Given the description of an element on the screen output the (x, y) to click on. 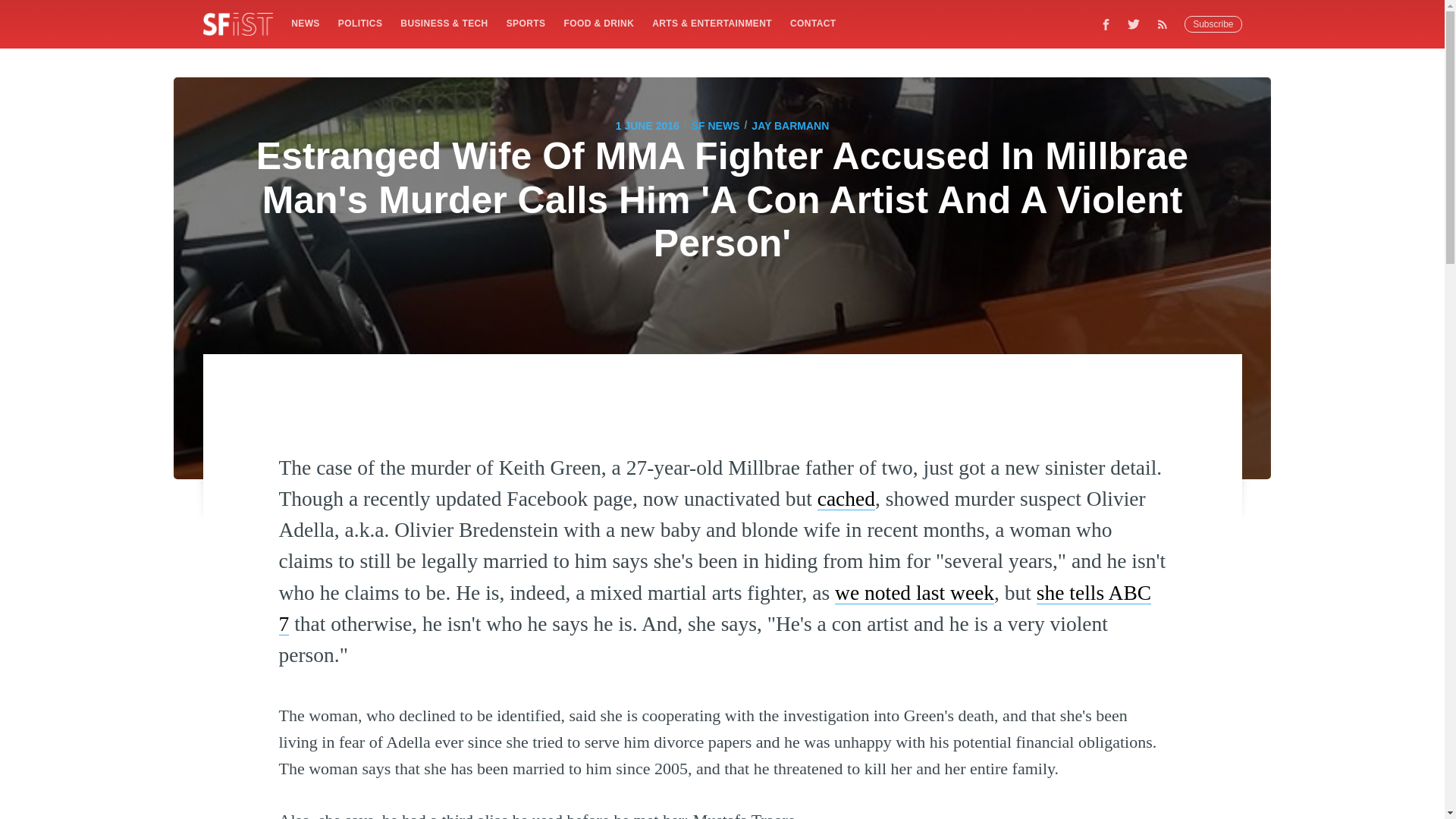
Twitter (1133, 23)
Facebook (1106, 23)
JAY BARMANN (789, 126)
we noted last week (914, 592)
POLITICS (360, 23)
NEWS (305, 23)
SF NEWS (715, 126)
cached (845, 498)
RSS (1166, 23)
she tells ABC 7 (715, 607)
